Given the description of an element on the screen output the (x, y) to click on. 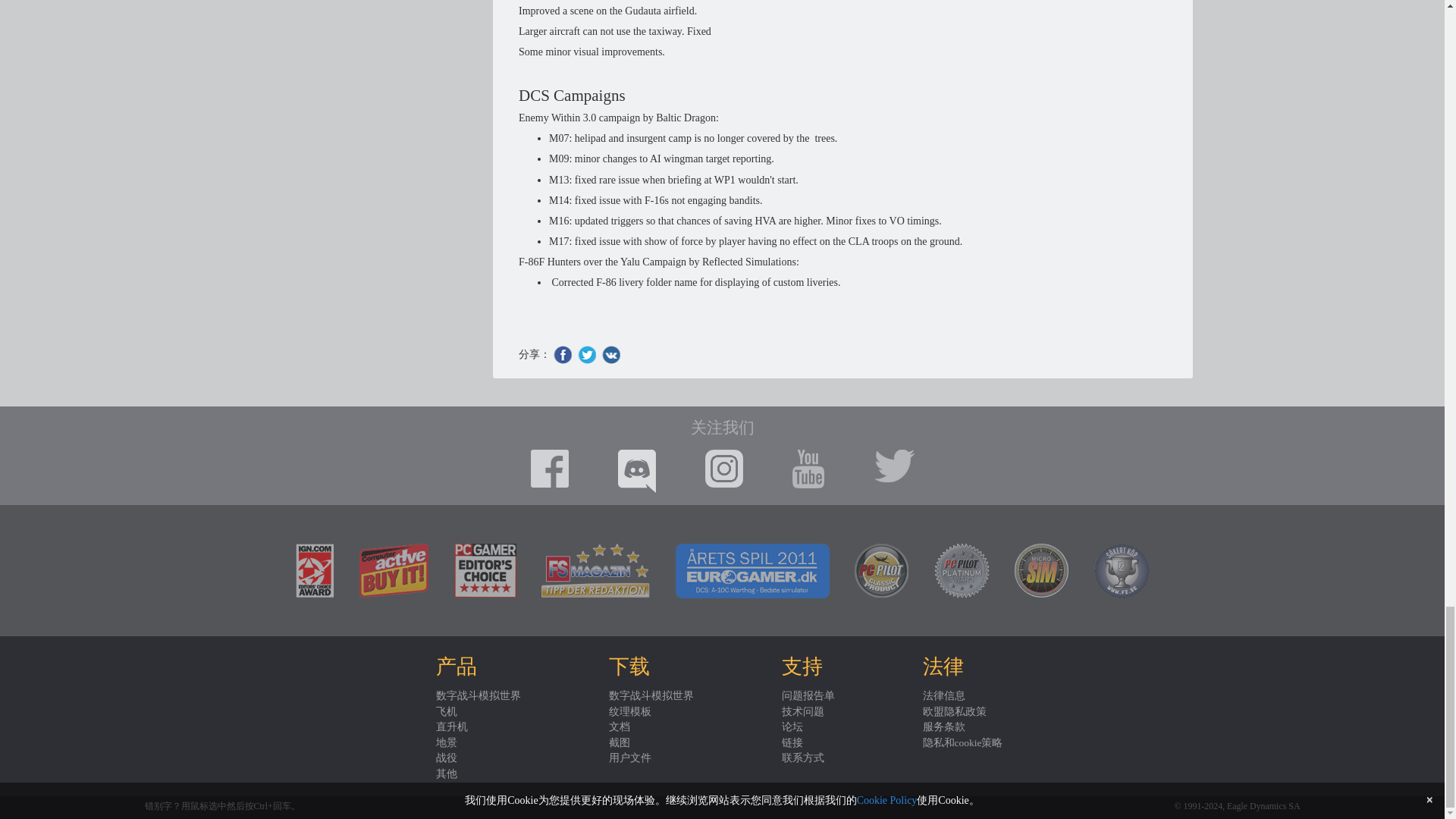
Facebook (562, 354)
Microsim award (1041, 570)
PC Gamer Editor's Choice 5 stars award (483, 570)
Twitter (586, 354)
'Tipp der Redaktion' from the German magazine FS Magazin (595, 570)
PC Pilot Platinum award (962, 570)
Swedish award (1120, 570)
Vkontakte (611, 354)
Eurogamer award (751, 570)
PC Pilot Classic Product award (881, 570)
